Given the description of an element on the screen output the (x, y) to click on. 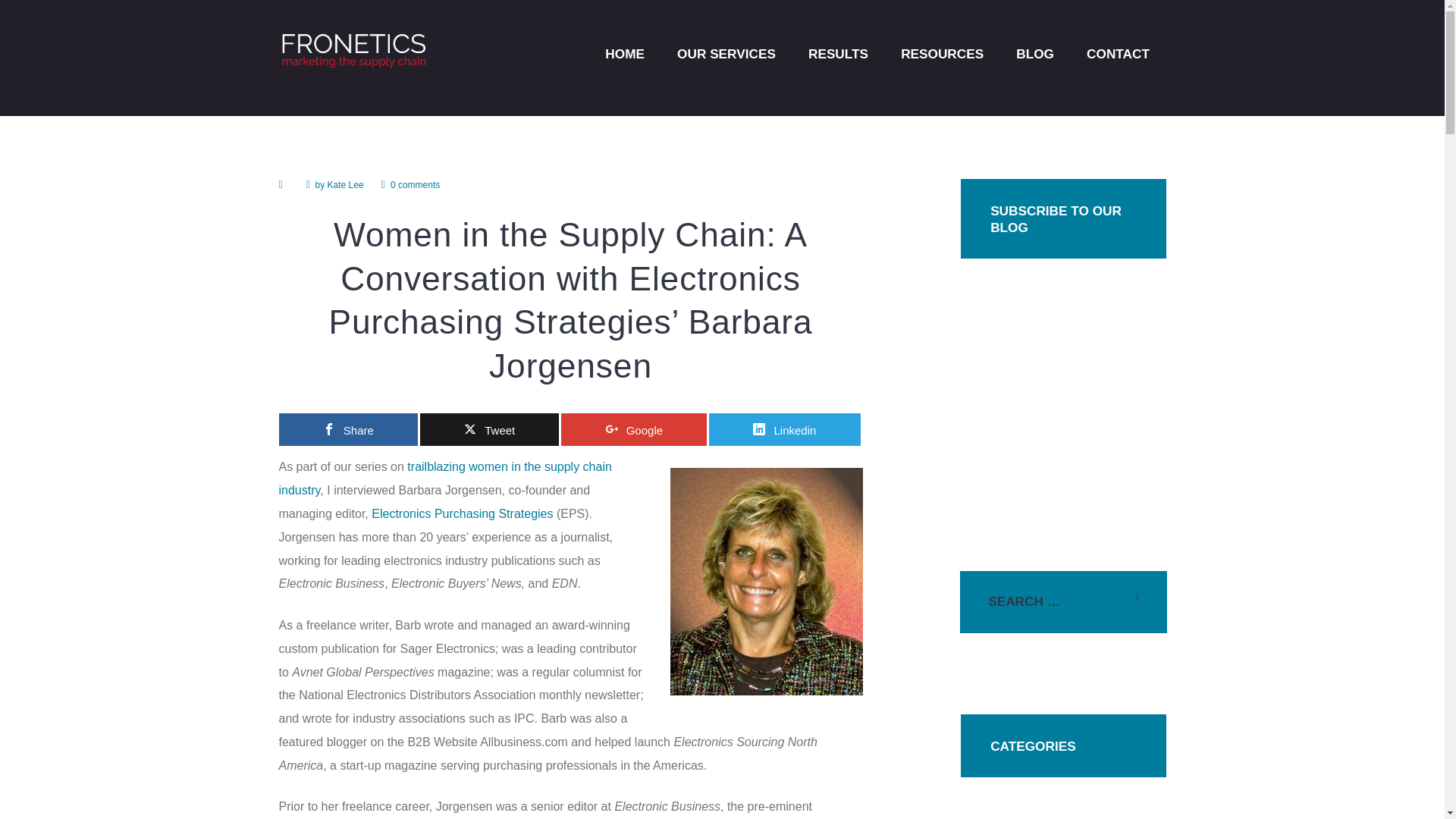
Search for: (1062, 601)
Kate Lee (345, 184)
CONTACT (1118, 53)
HOME (625, 53)
0 comments (410, 184)
RESULTS (837, 53)
RESOURCES (942, 53)
Share (348, 429)
BLOG (1035, 53)
Comments - 0 (410, 184)
OUR SERVICES (726, 53)
